Given the description of an element on the screen output the (x, y) to click on. 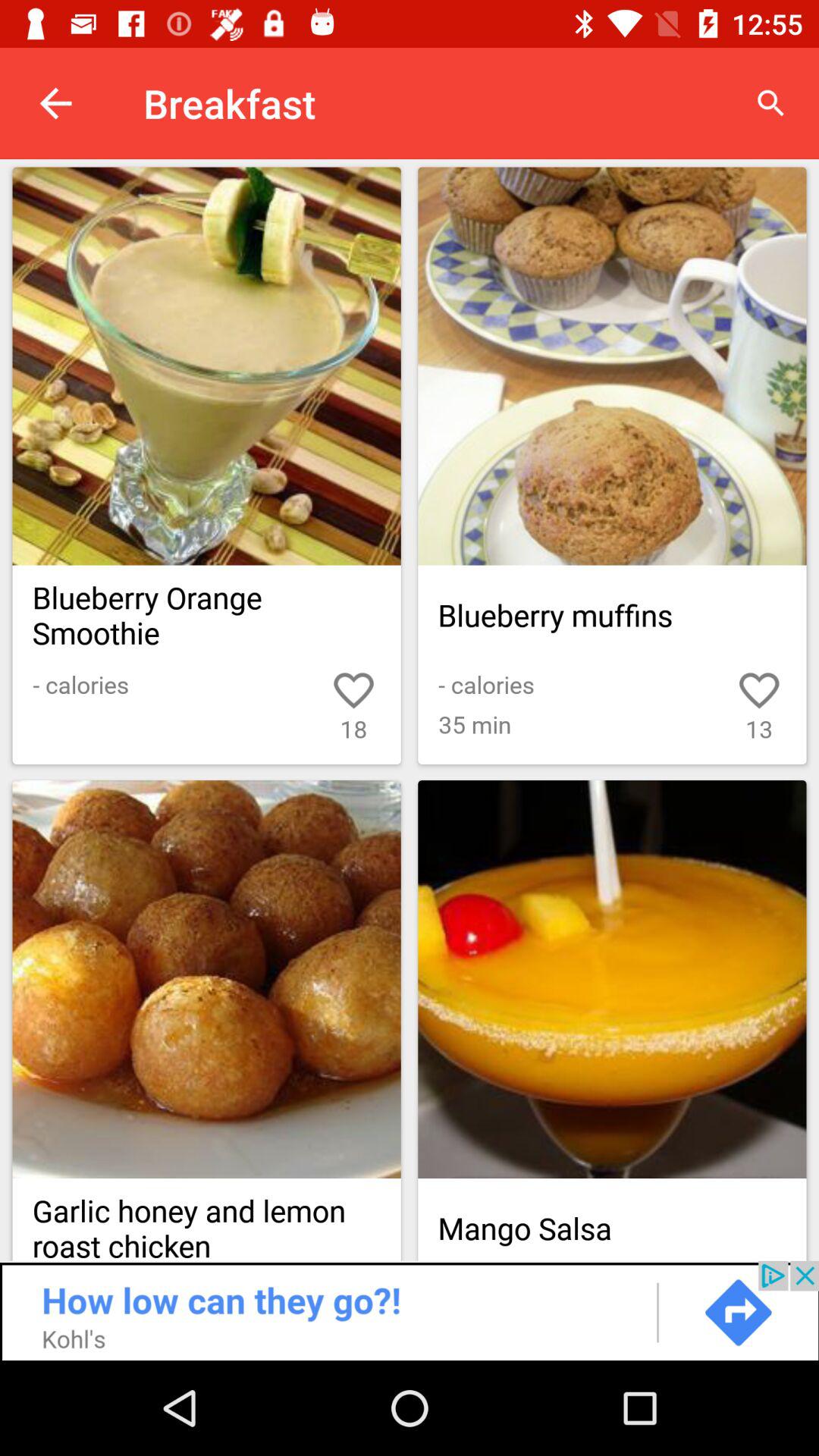
cookies and brownies recipes (206, 366)
